Given the description of an element on the screen output the (x, y) to click on. 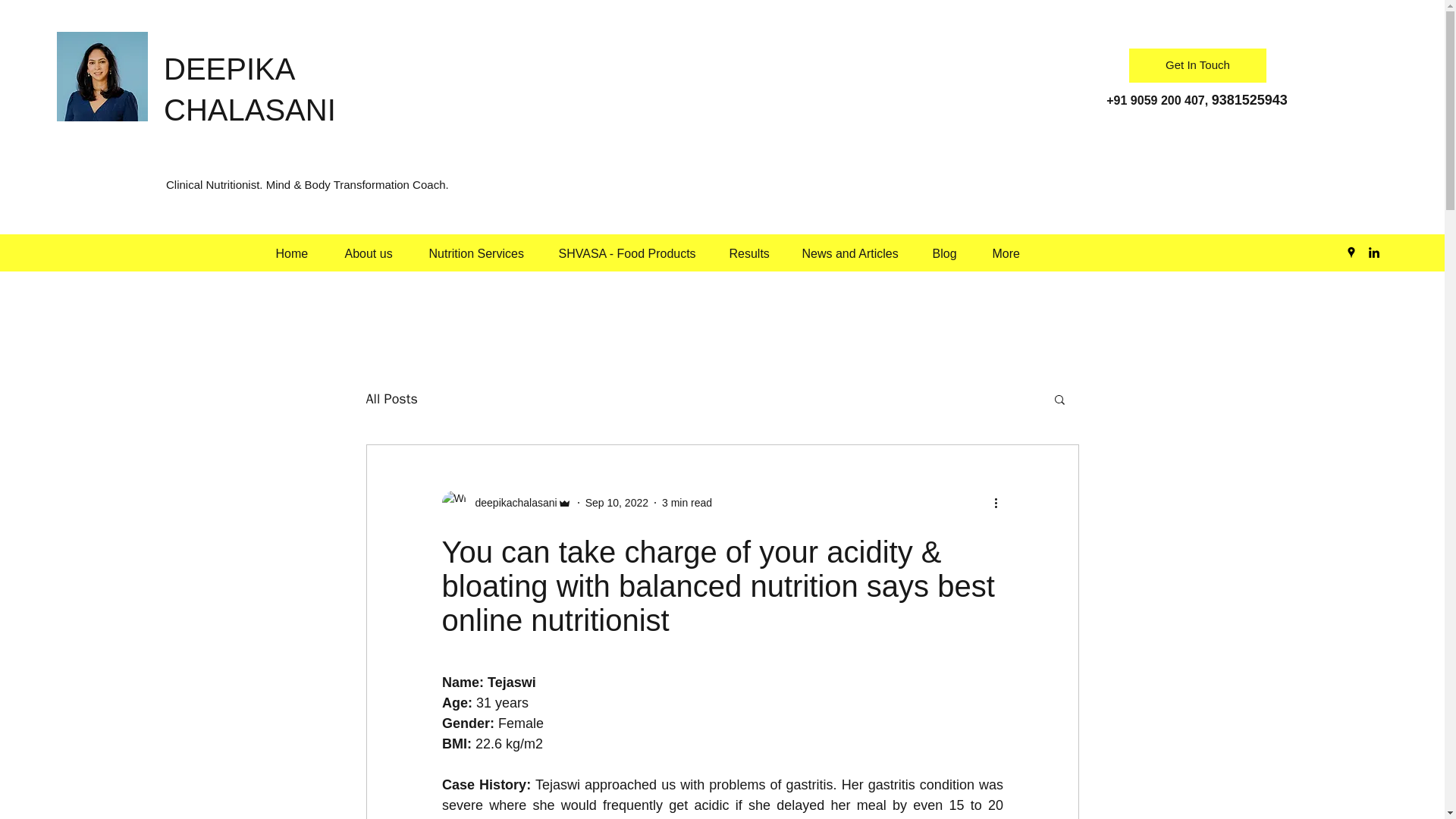
Results (758, 253)
Blog (954, 253)
3 min read (686, 502)
Get In Touch (1197, 65)
deepikachalasani (505, 502)
All Posts (390, 398)
deepikachalasani (510, 503)
News and Articles (859, 253)
SHVASA - Food Products (635, 253)
Nutrition Services (486, 253)
